Given the description of an element on the screen output the (x, y) to click on. 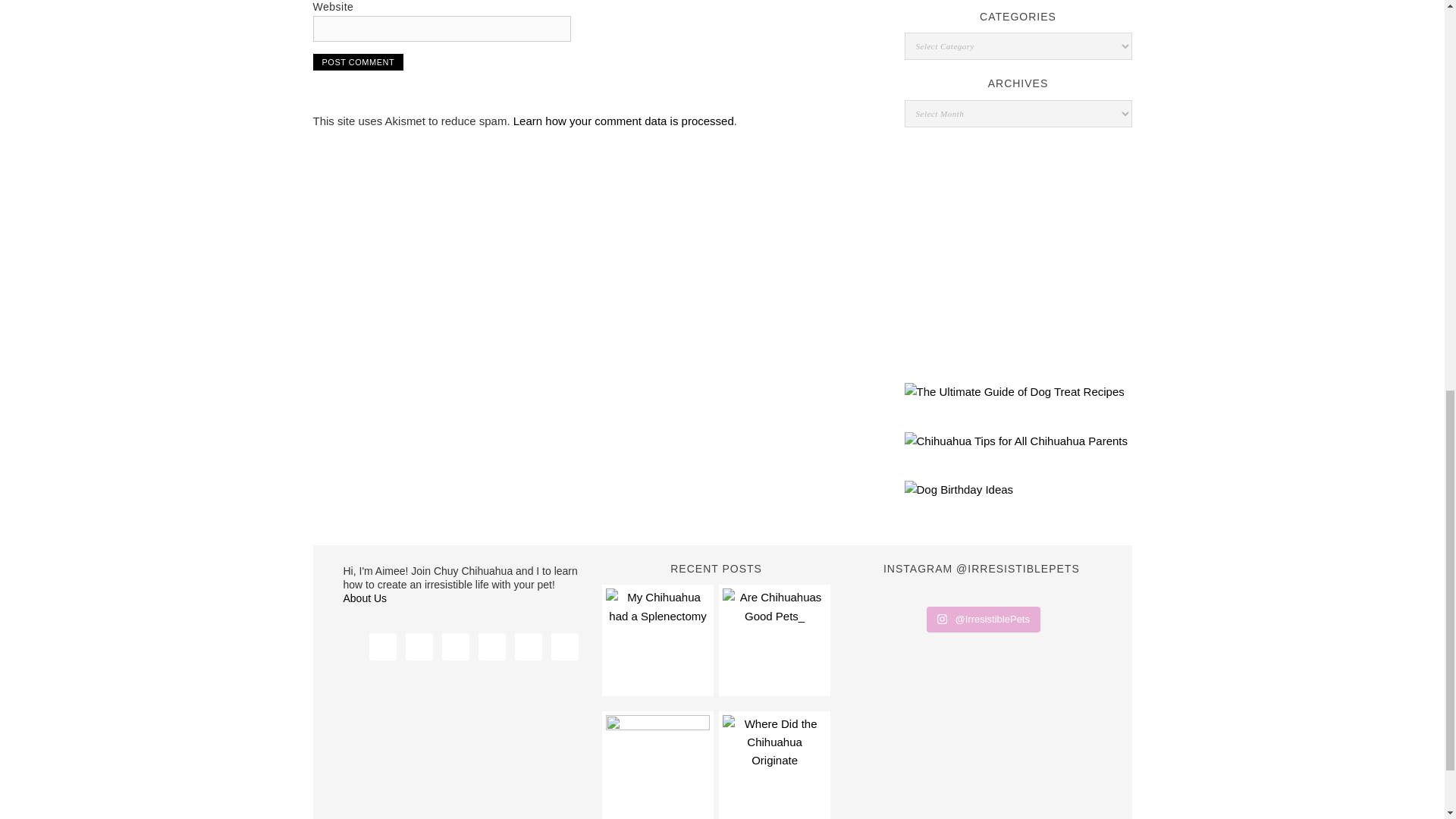
Where Did the Chihuahua Originate? (773, 766)
My Chihuahua Had a Splenectomy (657, 639)
About Us (364, 598)
Post Comment (358, 62)
Post Comment (358, 62)
Are Chihuahuas Good Pets? (773, 639)
Learn how your comment data is processed (623, 120)
